Given the description of an element on the screen output the (x, y) to click on. 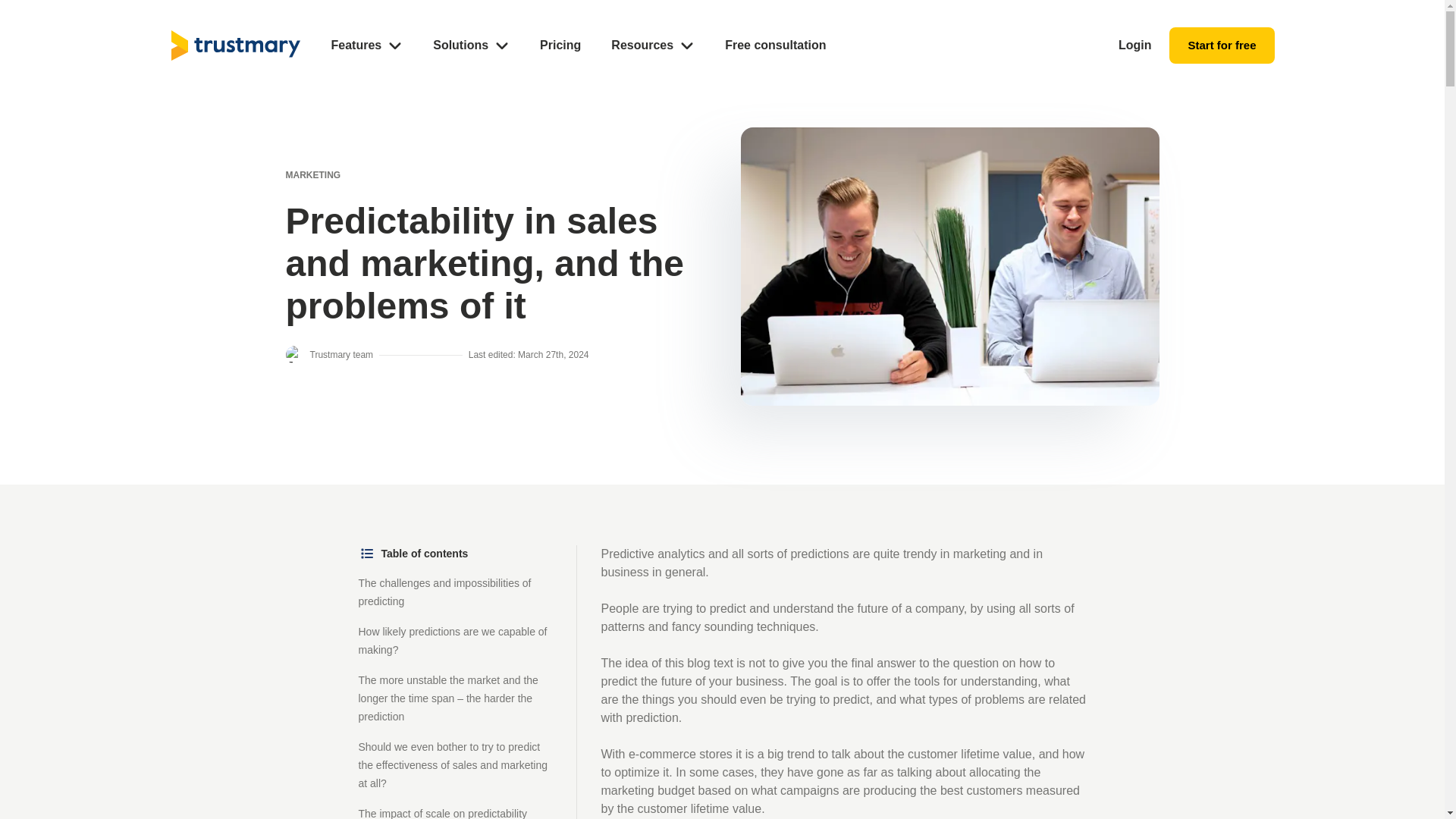
Login (1134, 45)
Start for free (1221, 45)
The challenges and impossibilities of predicting (444, 591)
The impact of scale on predictability (442, 812)
Pricing (560, 45)
Solutions (470, 45)
Resources (652, 45)
How likely predictions are we capable of making? (452, 640)
Features (366, 45)
Free consultation (775, 45)
